Given the description of an element on the screen output the (x, y) to click on. 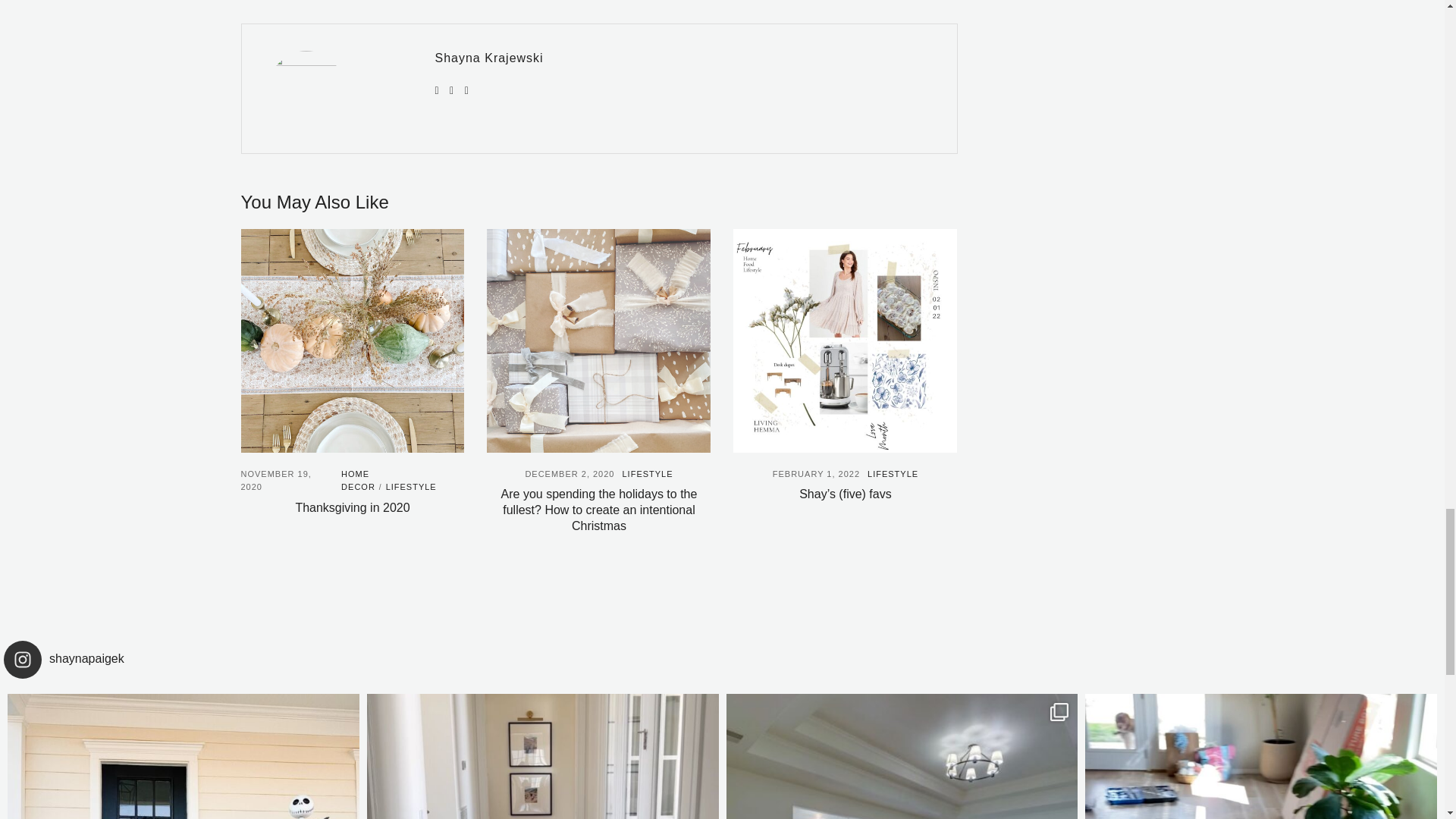
LIFESTYLE (410, 486)
LIFESTYLE (892, 473)
HOME DECOR (357, 480)
LIFESTYLE (646, 473)
Thanksgiving in 2020 (352, 507)
